Given the description of an element on the screen output the (x, y) to click on. 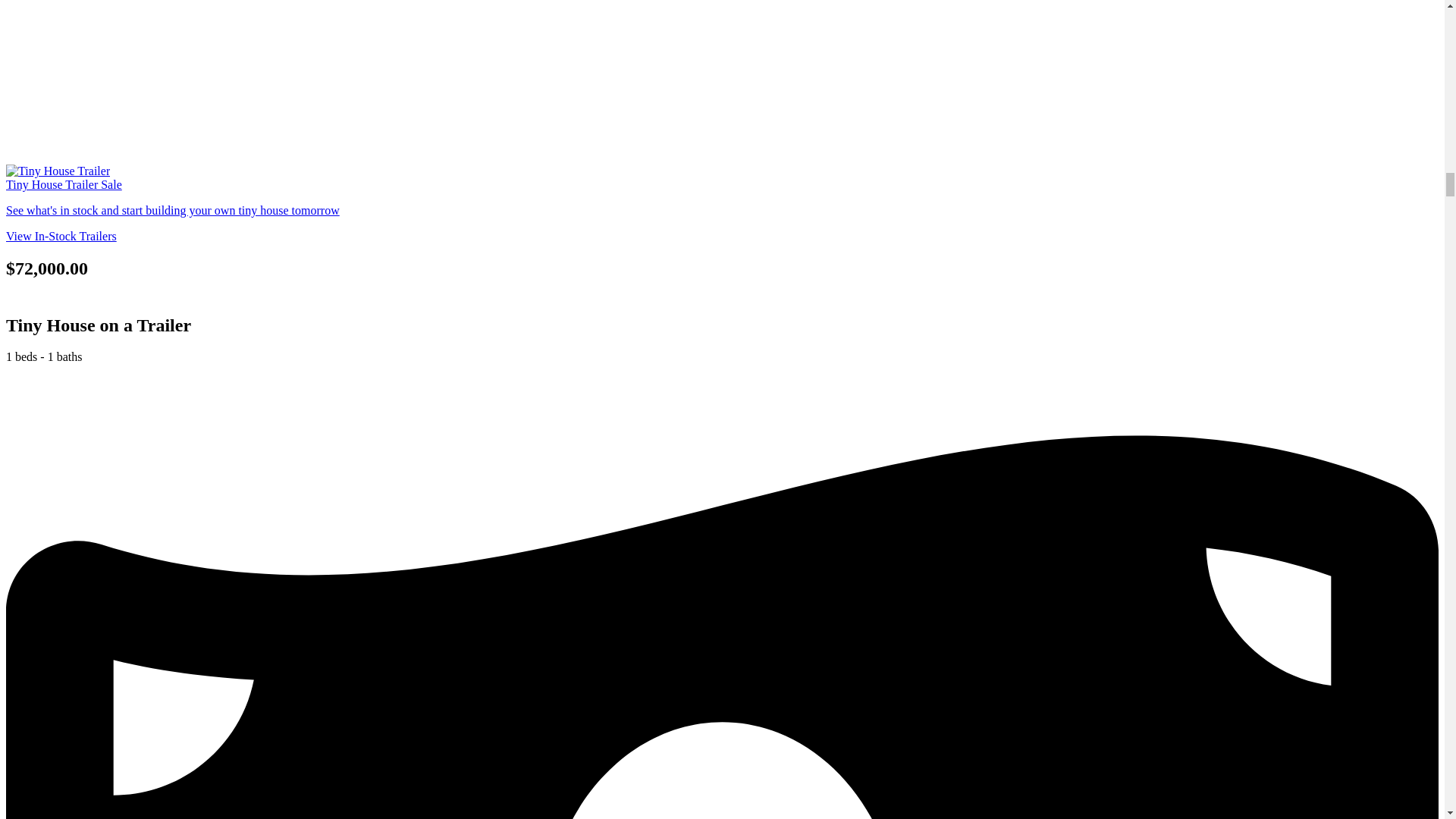
View In-Stock Trailers (60, 236)
Tiny House Trailer Sale (63, 184)
